Given the description of an element on the screen output the (x, y) to click on. 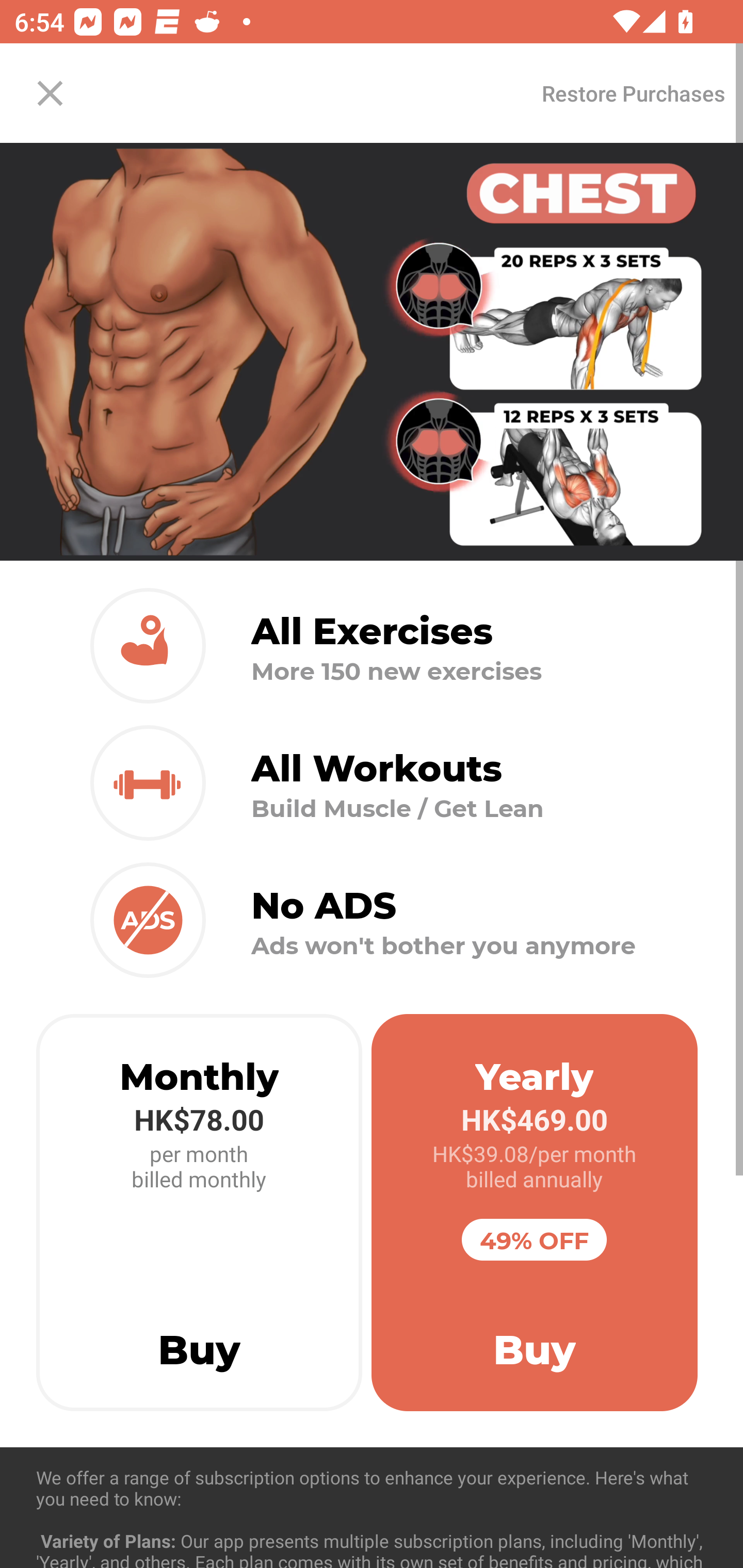
Restore Purchases (632, 92)
Monthly HK$78.00 per month
billed monthly Buy (199, 1212)
